Given the description of an element on the screen output the (x, y) to click on. 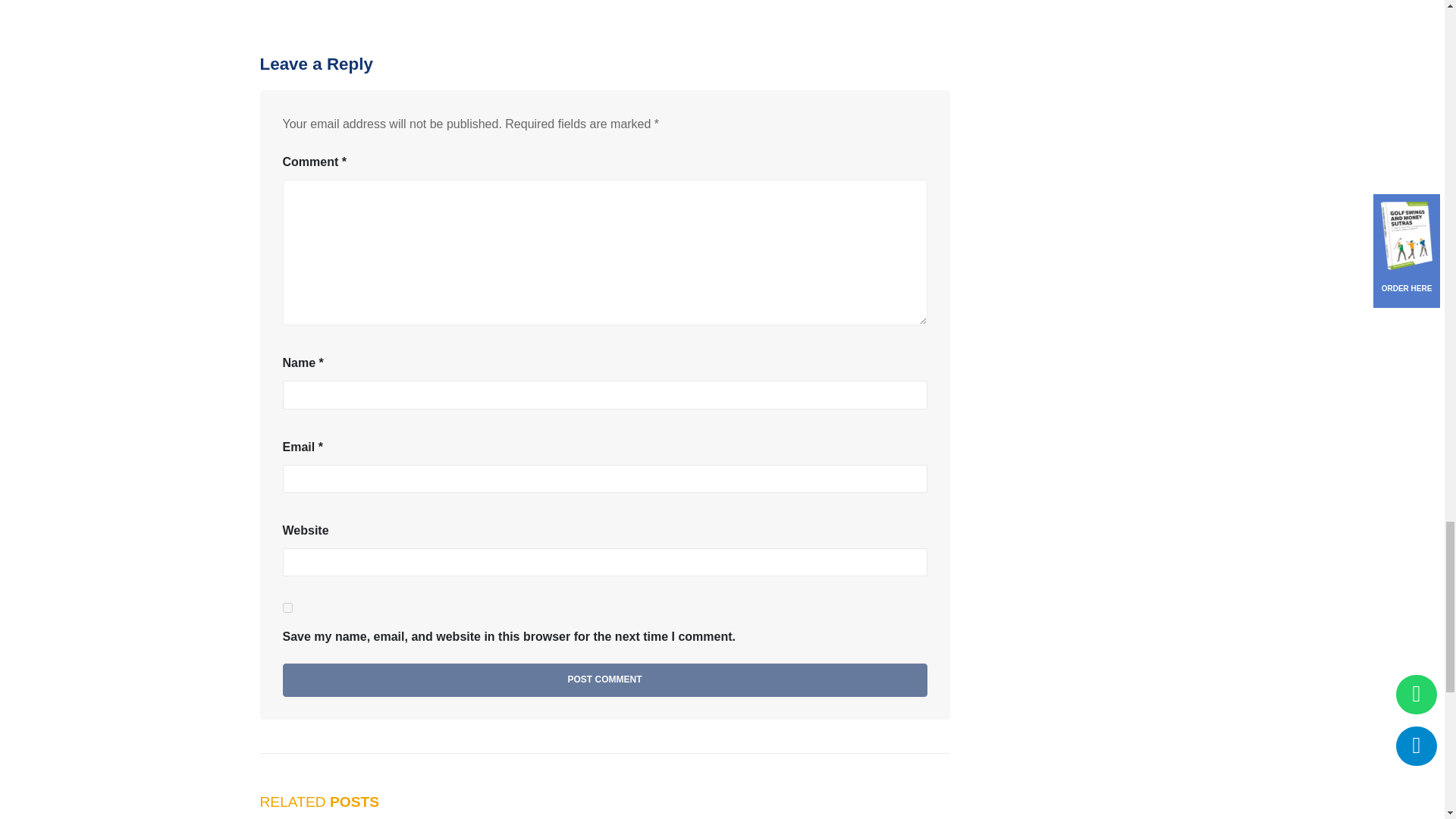
Post Comment (604, 679)
yes (287, 607)
